Given the description of an element on the screen output the (x, y) to click on. 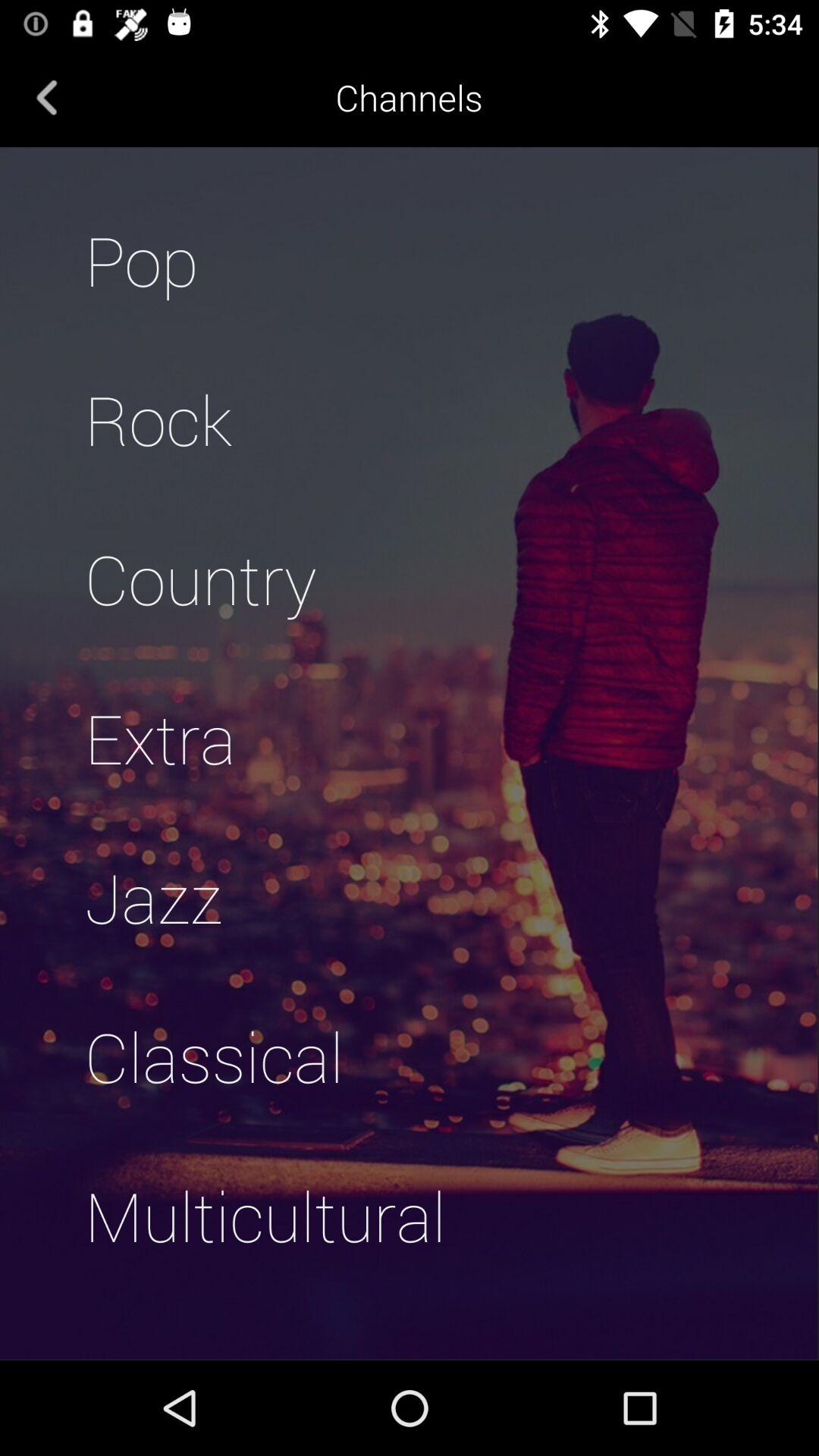
tap the item to the left of channels item (47, 97)
